Given the description of an element on the screen output the (x, y) to click on. 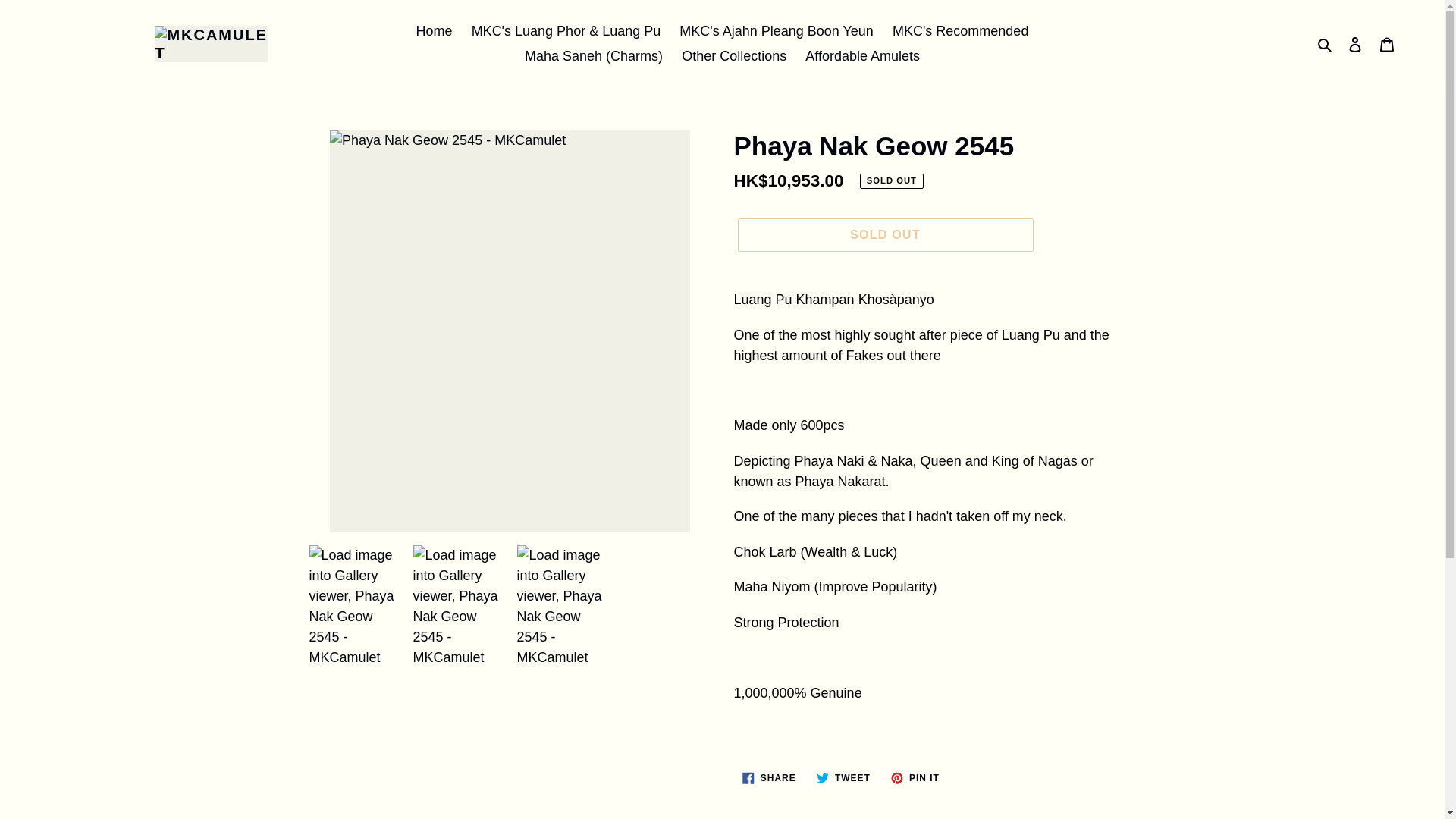
MKC's Recommended (960, 31)
MKC's Ajahn Pleang Boon Yeun (843, 777)
Search (914, 777)
SOLD OUT (775, 31)
Log in (1326, 44)
Other Collections (884, 234)
Home (1355, 43)
Affordable Amulets (733, 56)
